Given the description of an element on the screen output the (x, y) to click on. 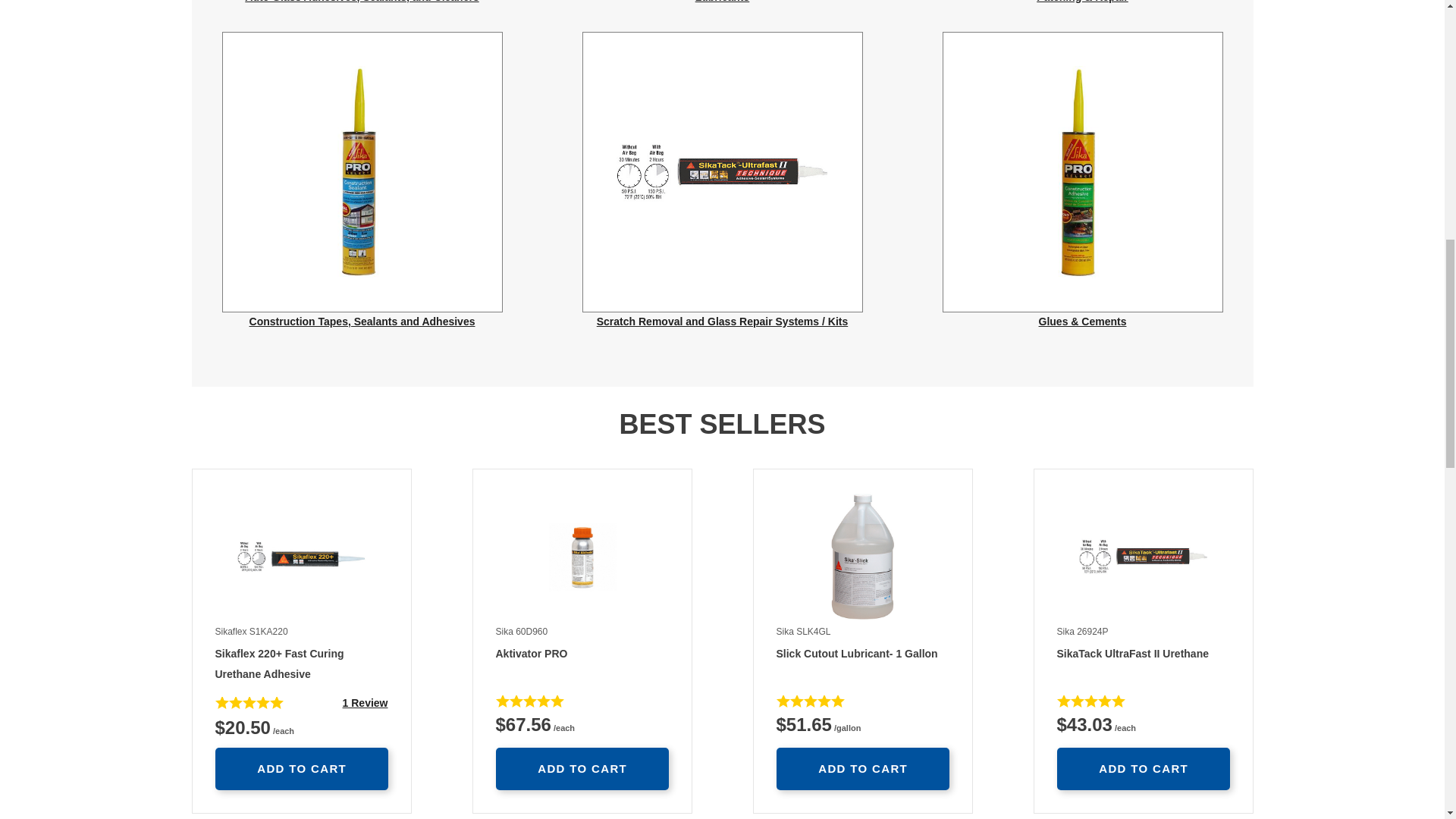
Lubricants (722, 1)
5 out of 5 star rating (810, 701)
Auto Glass Adhesives, Sealants, and Cleaners (361, 1)
ADD TO CART (582, 768)
ADD TO CART (1143, 768)
1 Review (365, 703)
5 out of 5 star rating (582, 654)
5 out of 5 star rating (530, 701)
ADD TO CART (1091, 701)
Construction Tapes, Sealants and Adhesives (862, 768)
ADD TO CART (862, 654)
5 out of 5 star rating (361, 179)
